Given the description of an element on the screen output the (x, y) to click on. 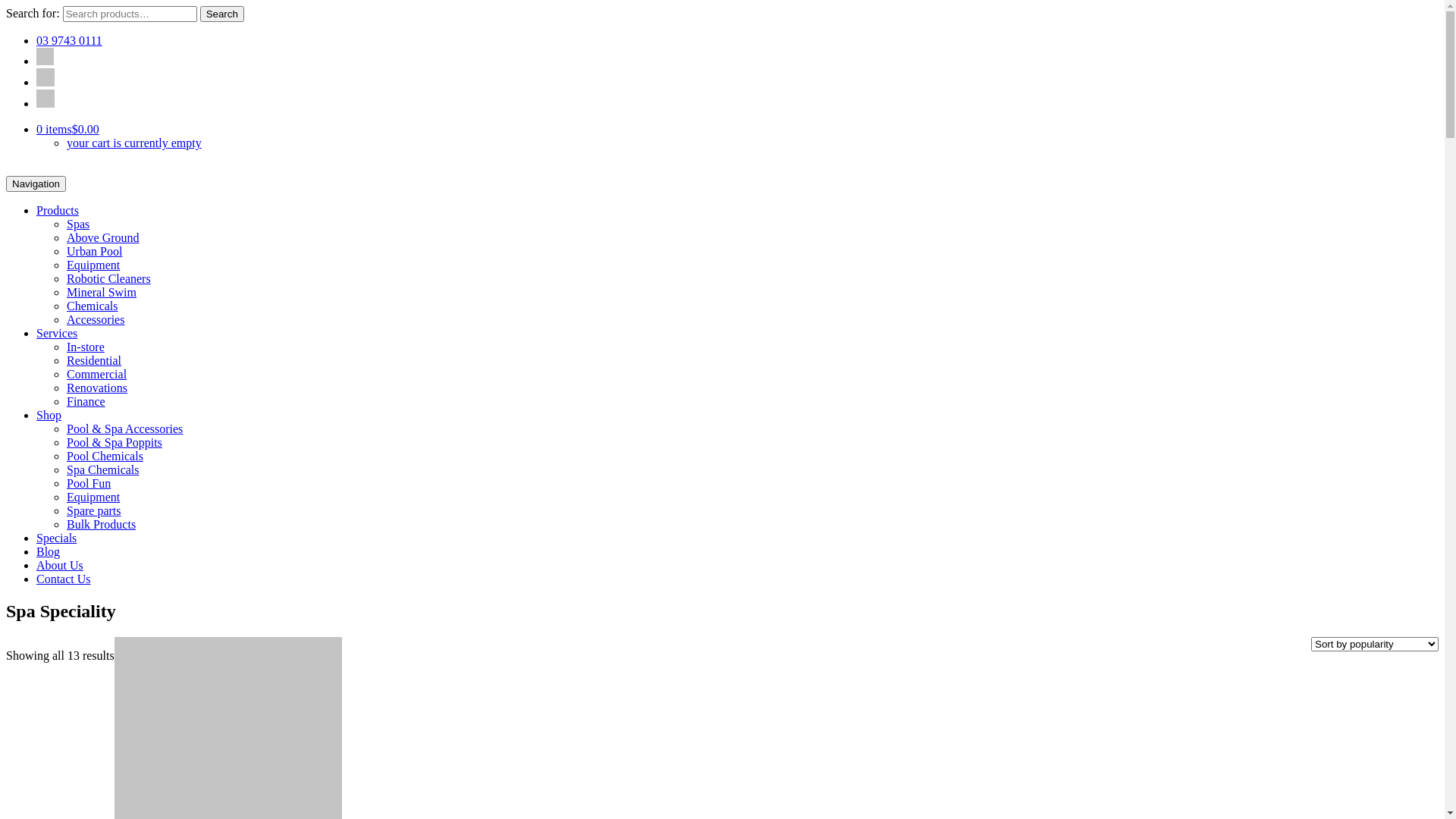
Chemicals Element type: text (92, 305)
Shop Element type: text (48, 414)
Renovations Element type: text (96, 387)
Spa Chemicals Element type: text (102, 469)
Spas Element type: text (77, 223)
Pool Fun Element type: text (88, 482)
Commercial Element type: text (96, 373)
Blog Element type: text (47, 551)
Bulk Products Element type: text (100, 523)
Pool & Spa Accessories Element type: text (124, 428)
Pool & Spa Poppits Element type: text (114, 442)
0 items$0.00 Element type: text (67, 128)
Products Element type: text (57, 209)
your cart is currently empty Element type: text (133, 142)
Residential Element type: text (93, 360)
Equipment Element type: text (92, 264)
Mineral Swim Element type: text (101, 291)
Spare parts Element type: text (93, 510)
Contact Us Element type: text (63, 578)
About Us Element type: text (59, 564)
Search Element type: text (222, 13)
Pool Chemicals Element type: text (104, 455)
Equipment Element type: text (92, 496)
Robotic Cleaners Element type: text (108, 278)
03 9743 0111 Element type: text (69, 40)
Above Ground Element type: text (102, 237)
Specials Element type: text (56, 537)
Accessories Element type: text (95, 319)
Finance Element type: text (85, 401)
In-store Element type: text (85, 346)
Urban Pool Element type: text (94, 250)
Navigation Element type: text (35, 183)
Services Element type: text (56, 332)
